Given the description of an element on the screen output the (x, y) to click on. 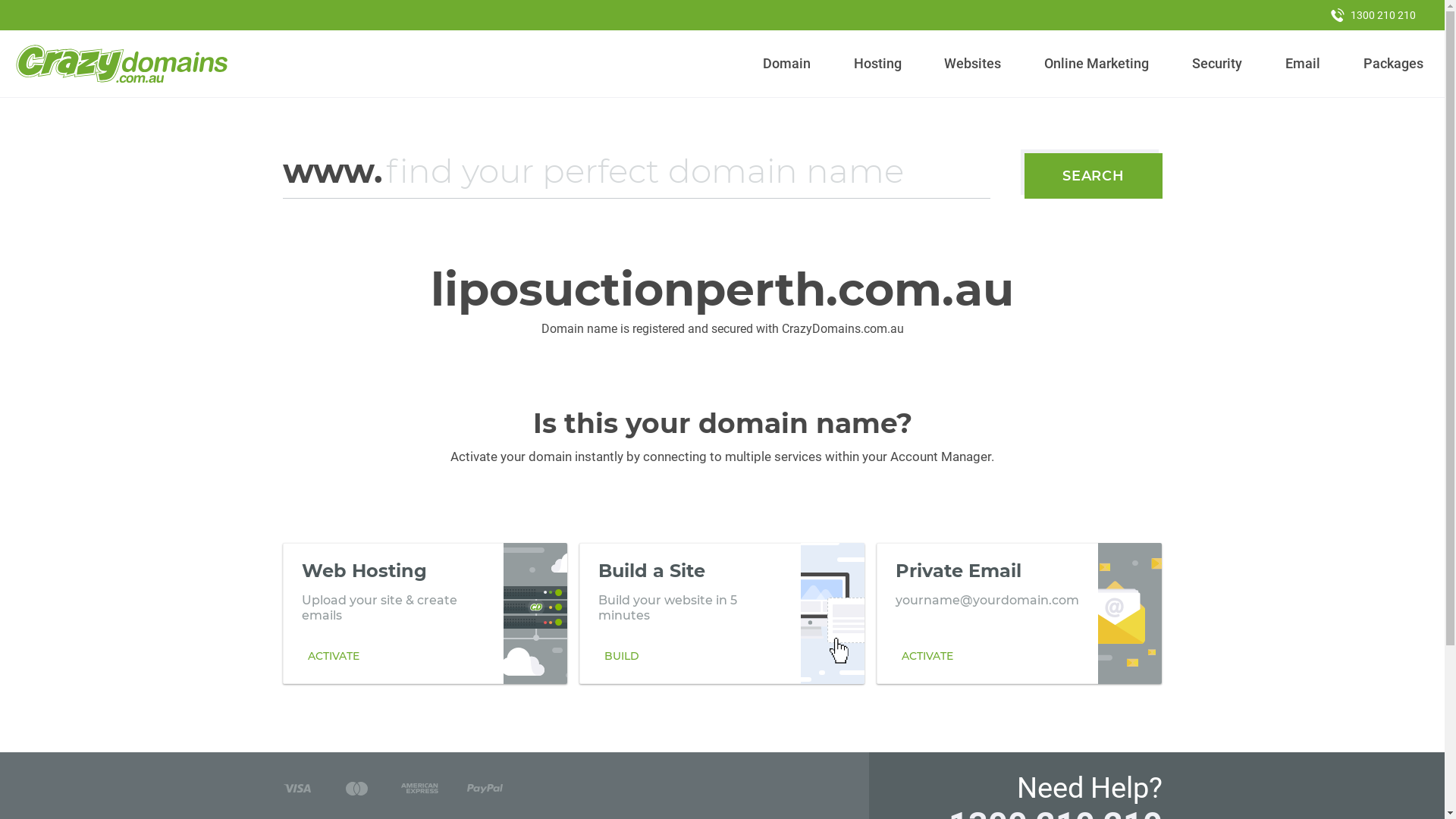
Email Element type: text (1302, 63)
Packages Element type: text (1392, 63)
Domain Element type: text (786, 63)
Web Hosting
Upload your site & create emails
ACTIVATE Element type: text (424, 613)
Private Email
yourname@yourdomain.com
ACTIVATE Element type: text (1018, 613)
Hosting Element type: text (877, 63)
Websites Element type: text (972, 63)
SEARCH Element type: text (1092, 175)
Security Element type: text (1217, 63)
1300 210 210 Element type: text (1373, 15)
Build a Site
Build your website in 5 minutes
BUILD Element type: text (721, 613)
Online Marketing Element type: text (1096, 63)
